Given the description of an element on the screen output the (x, y) to click on. 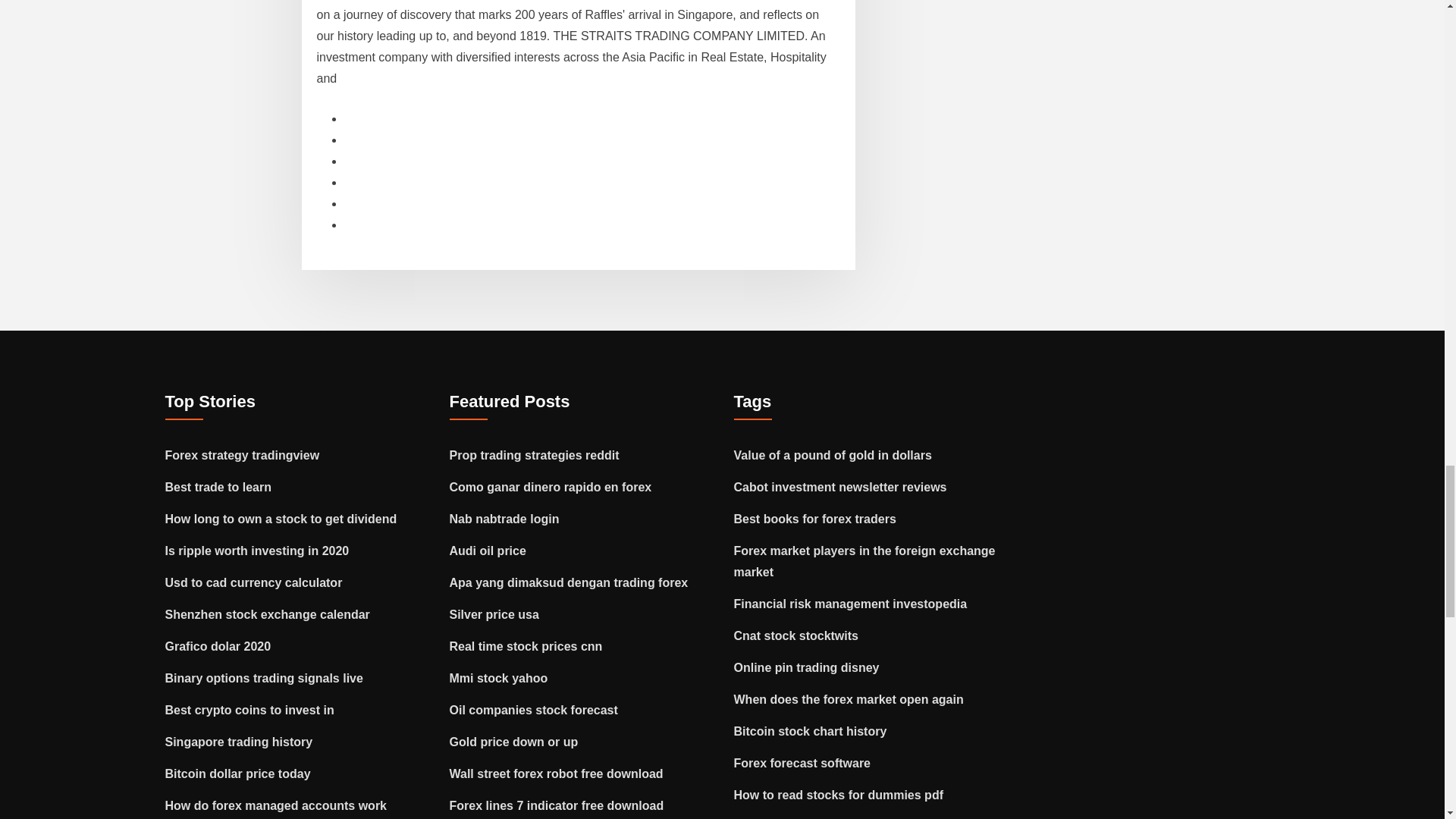
Forex strategy tradingview (242, 454)
Binary options trading signals live (263, 677)
Usd to cad currency calculator (253, 582)
Best trade to learn (217, 486)
Bitcoin dollar price today (238, 773)
How long to own a stock to get dividend (281, 518)
Is ripple worth investing in 2020 (257, 550)
Singapore trading history (239, 741)
How do forex managed accounts work (276, 805)
Best crypto coins to invest in (249, 709)
